Given the description of an element on the screen output the (x, y) to click on. 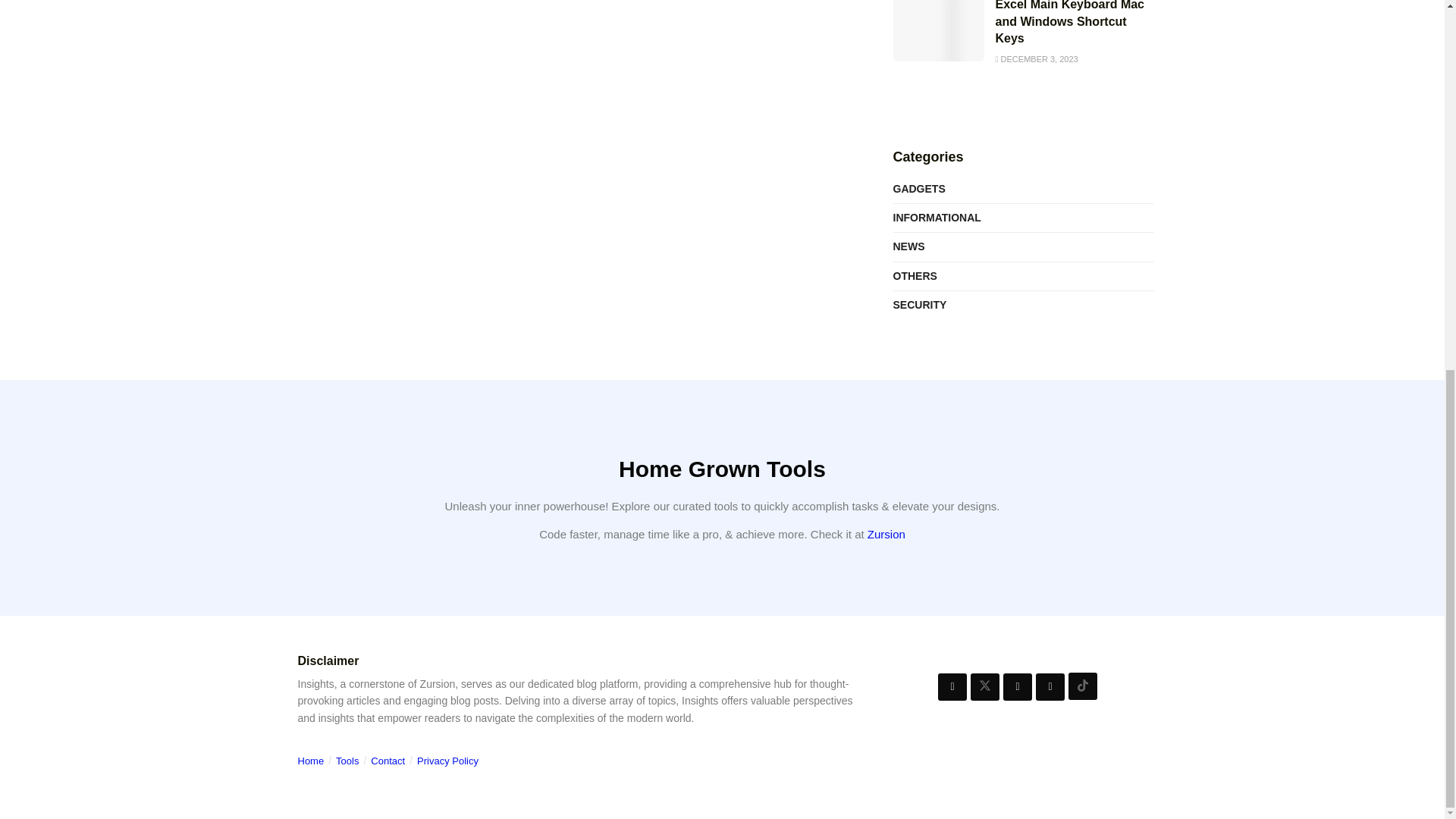
GADGETS (918, 189)
Excel Main Keyboard Mac and Windows Shortcut Keys (1069, 22)
DECEMBER 3, 2023 (1035, 58)
Contact Us (387, 760)
